Given the description of an element on the screen output the (x, y) to click on. 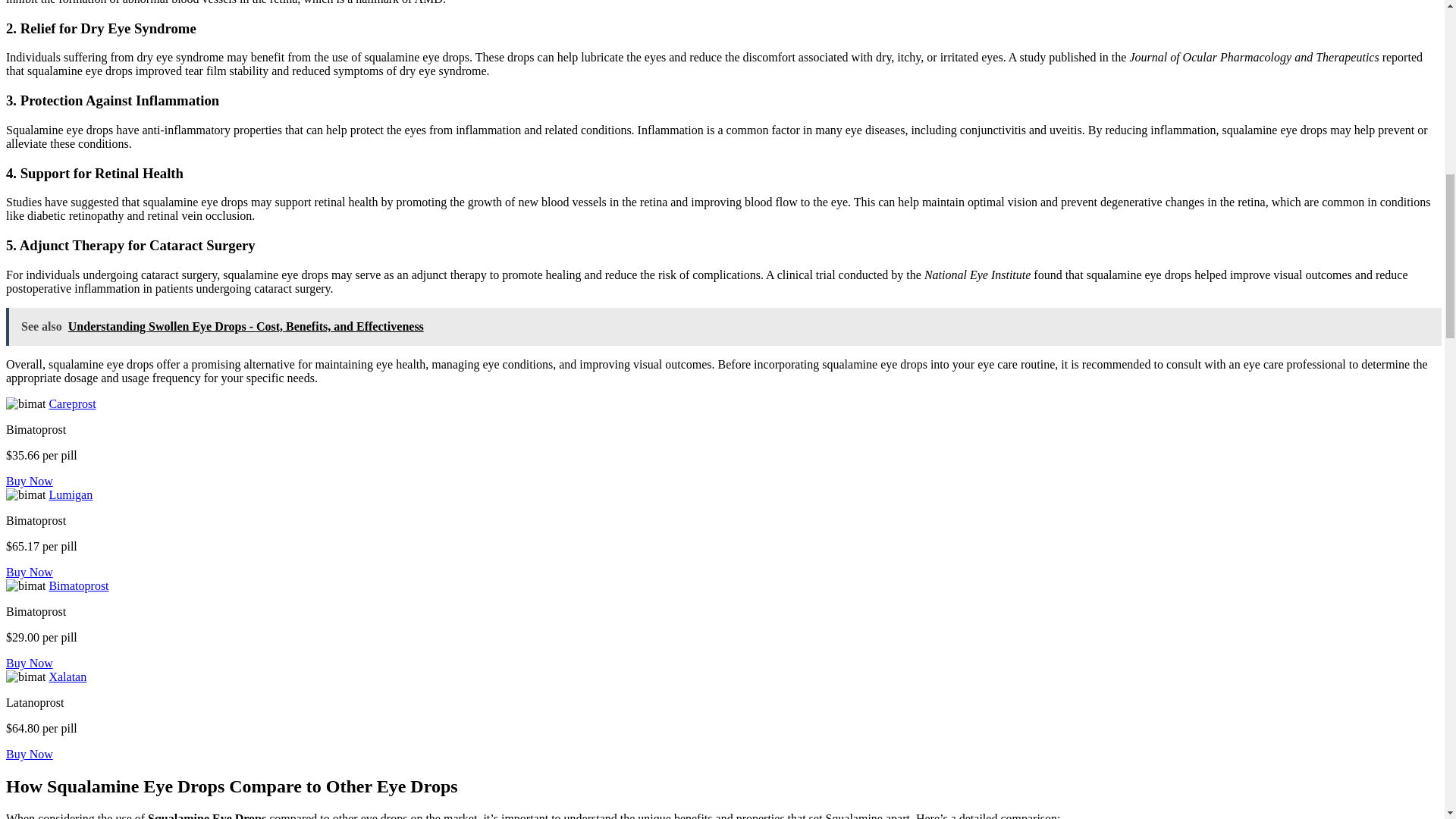
Buy Now (28, 481)
Careprost (72, 403)
Bimatoprost (77, 585)
Buy Now (28, 662)
Buy Now (28, 571)
Xalatan (66, 676)
Lumigan (70, 494)
Buy Now (28, 753)
